Given the description of an element on the screen output the (x, y) to click on. 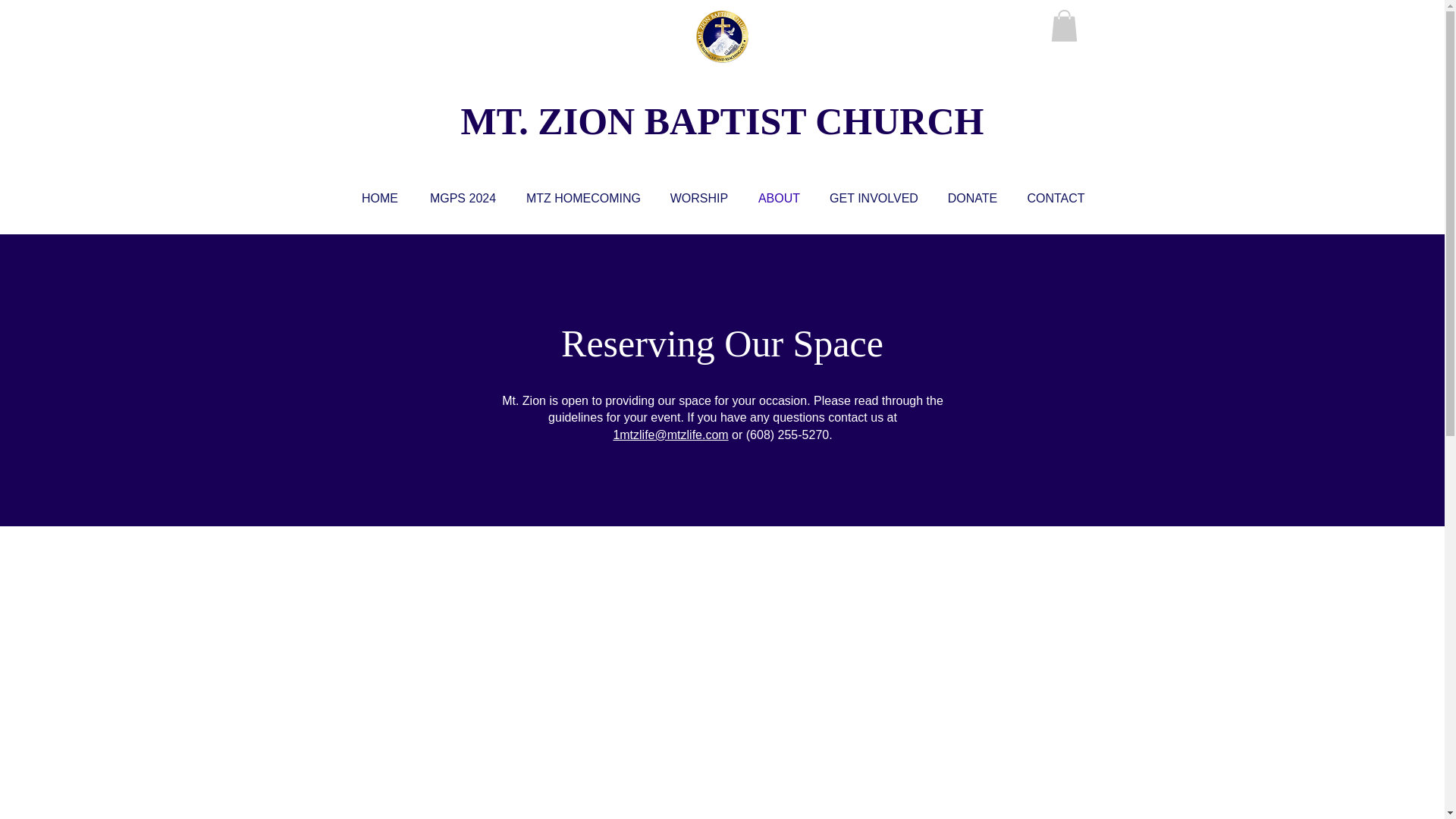
MT. ZION BAPTIST (633, 120)
HOME (380, 198)
MTZ HOMECOMING (583, 198)
WORSHIP (698, 198)
DONATE (973, 198)
CONTACT (1056, 198)
MGPS 2024 (462, 198)
GET INVOLVED (874, 198)
ABOUT (778, 198)
